Given the description of an element on the screen output the (x, y) to click on. 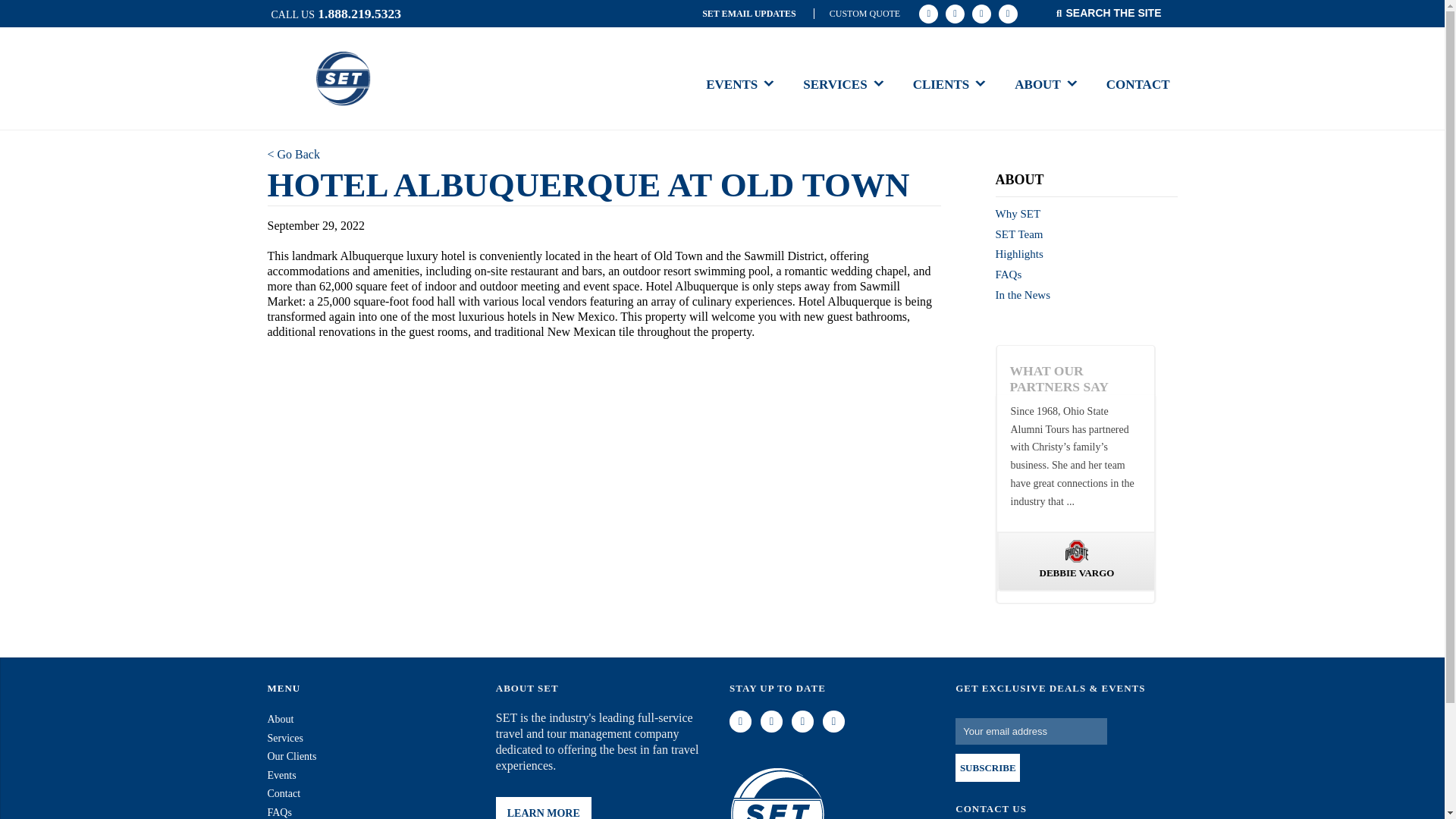
CUSTOM QUOTE (856, 13)
Search (56, 6)
Subscribe (987, 767)
EVENTS (740, 83)
SET EMAIL UPDATES (750, 13)
